Given the description of an element on the screen output the (x, y) to click on. 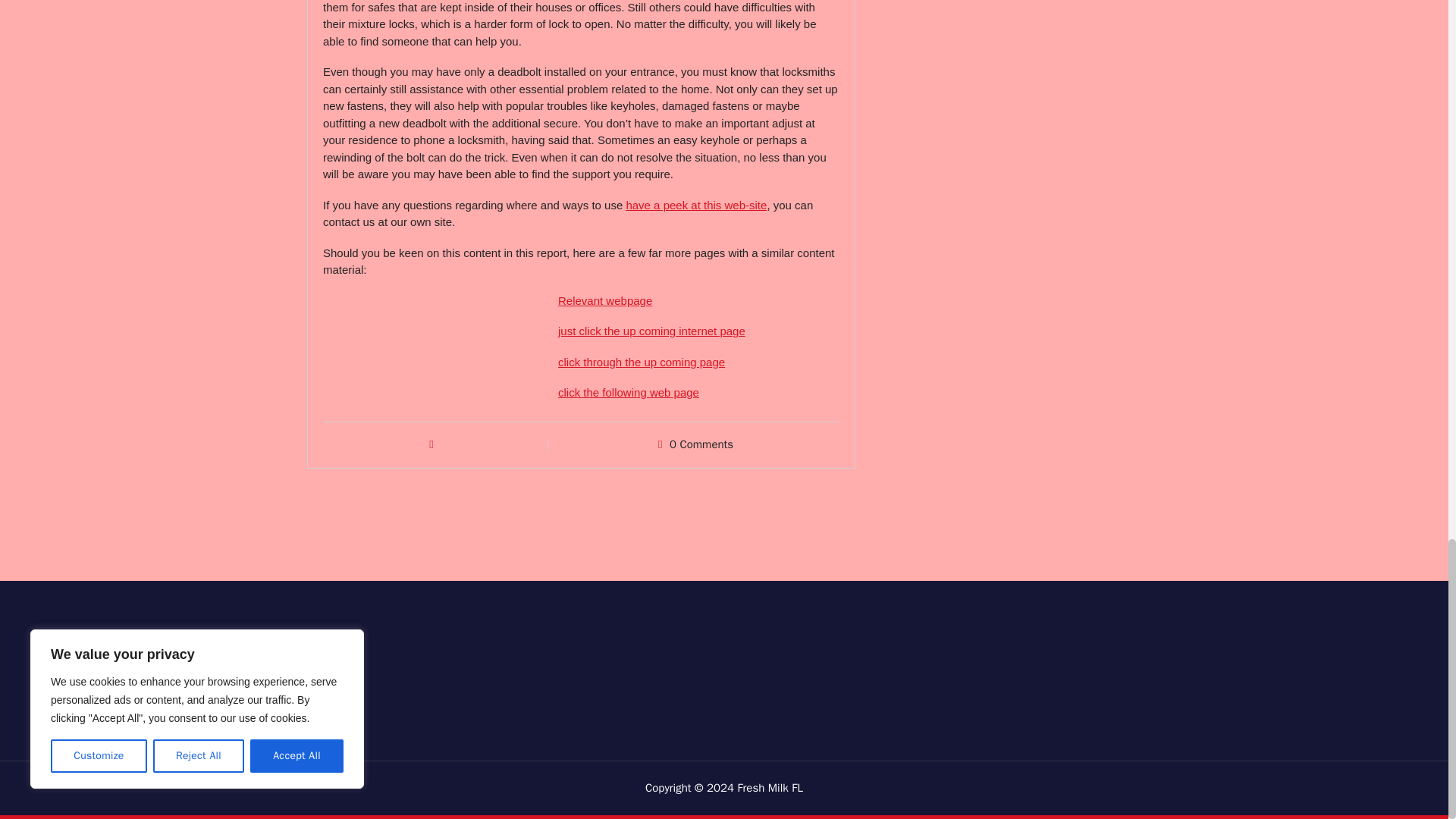
have a peek at this web-site (696, 205)
Relevant webpage (604, 300)
click through the up coming page (641, 361)
just click the up coming internet page (651, 330)
